Given the description of an element on the screen output the (x, y) to click on. 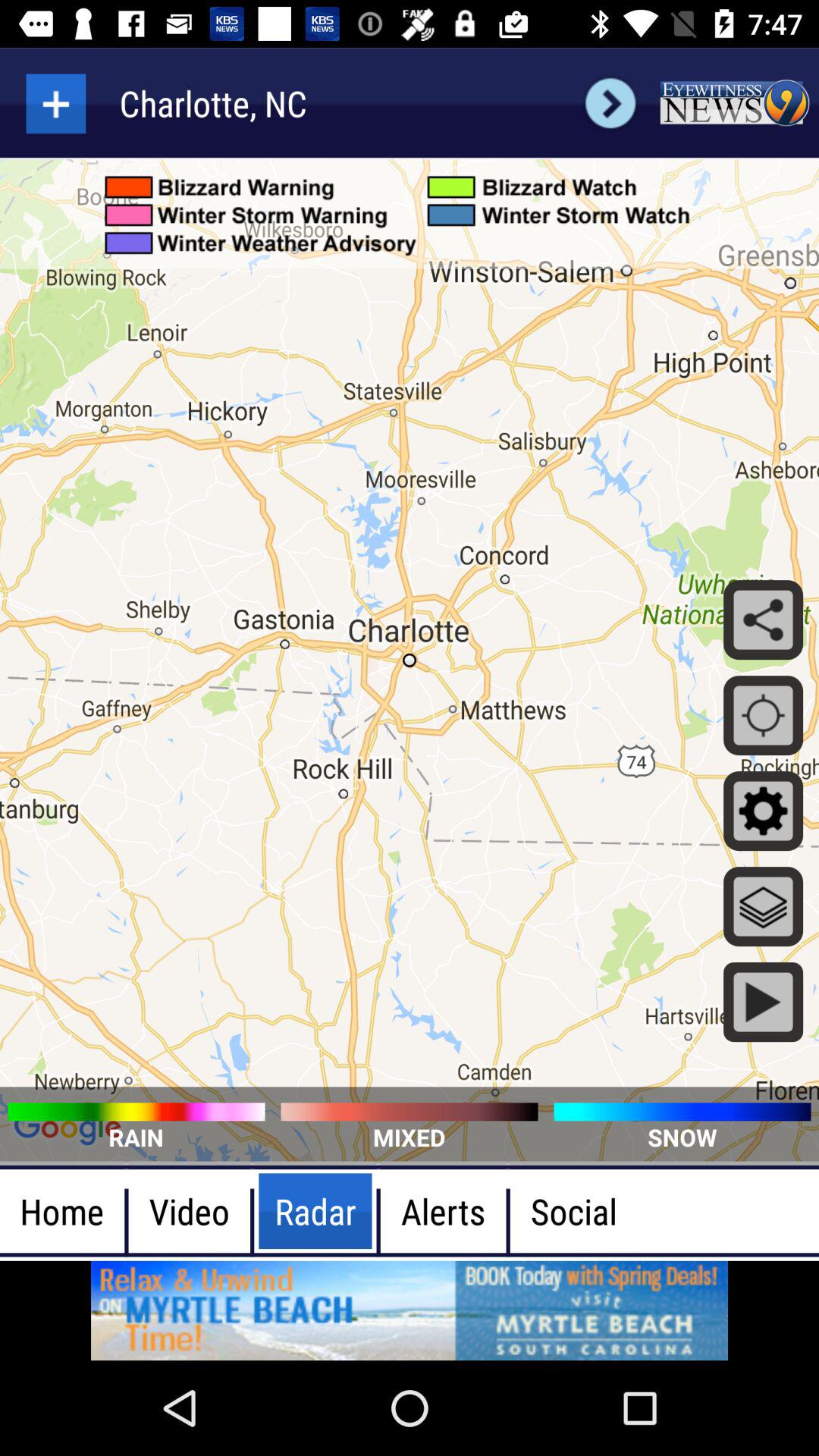
go forward (610, 103)
